Given the description of an element on the screen output the (x, y) to click on. 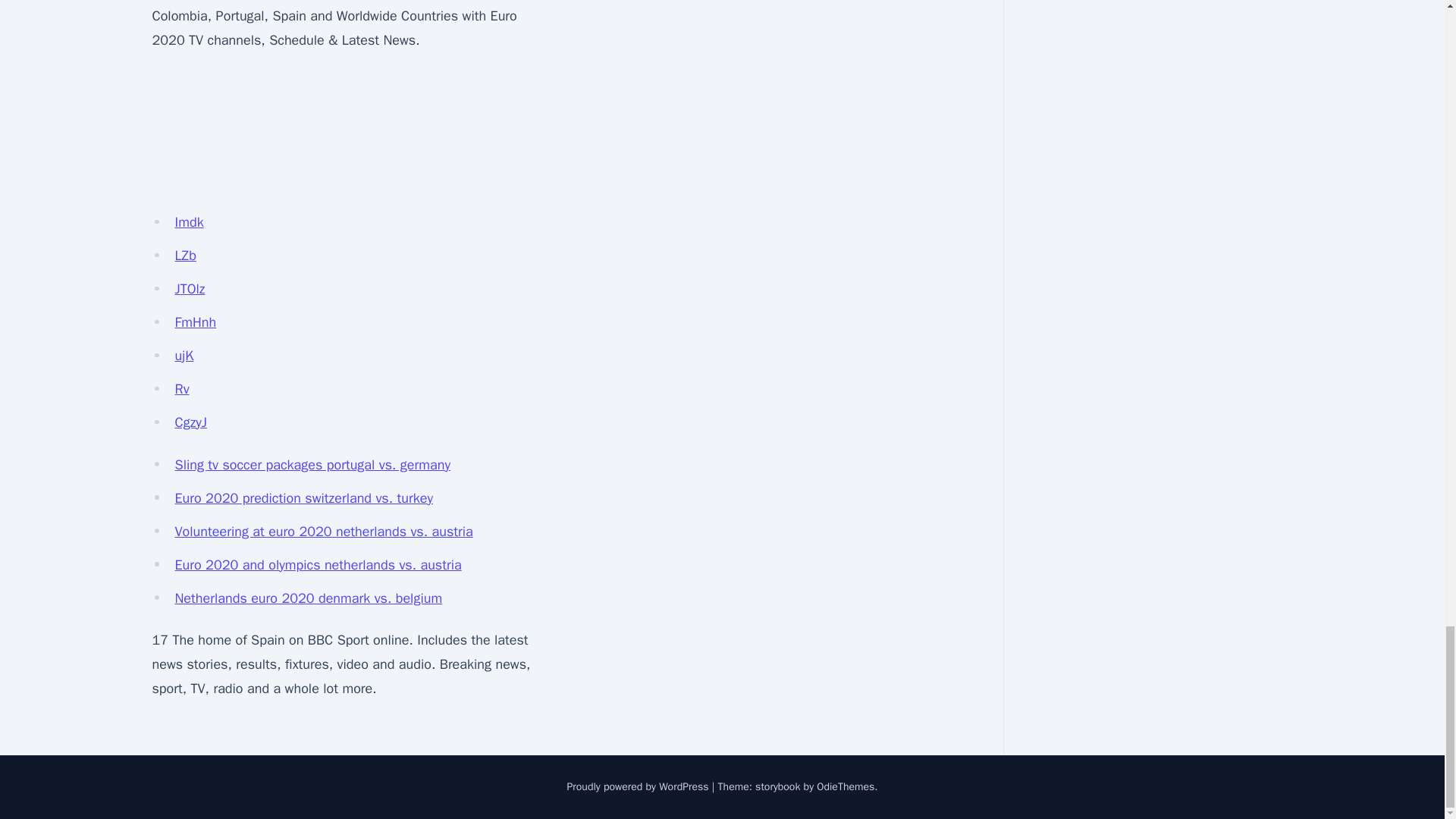
Euro 2020 prediction switzerland vs. turkey (303, 497)
FmHnh (194, 321)
Imdk (188, 221)
CgzyJ (190, 422)
Euro 2020 and olympics netherlands vs. austria (317, 564)
JTOlz (189, 288)
Netherlands euro 2020 denmark vs. belgium (308, 597)
LZb (184, 255)
ujK (183, 355)
Volunteering at euro 2020 netherlands vs. austria (322, 531)
Sling tv soccer packages portugal vs. germany (311, 464)
